Given the description of an element on the screen output the (x, y) to click on. 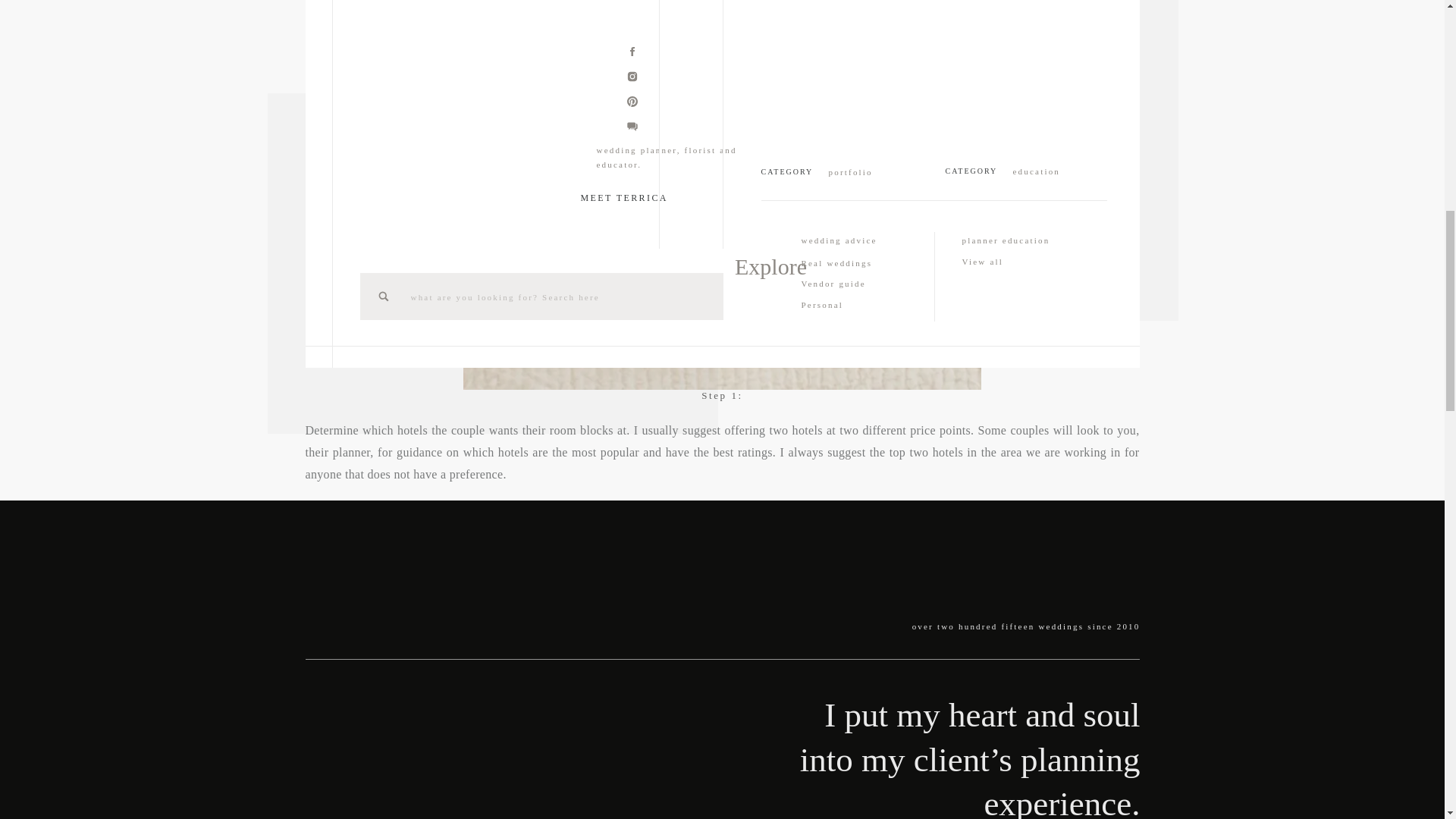
MEET TERRICA (632, 196)
Real weddings (864, 262)
education (1051, 170)
Vendor guide (864, 282)
Personal (864, 303)
portfolio (866, 170)
View all (1024, 261)
wedding advice (864, 239)
planner education (1024, 240)
